Given the description of an element on the screen output the (x, y) to click on. 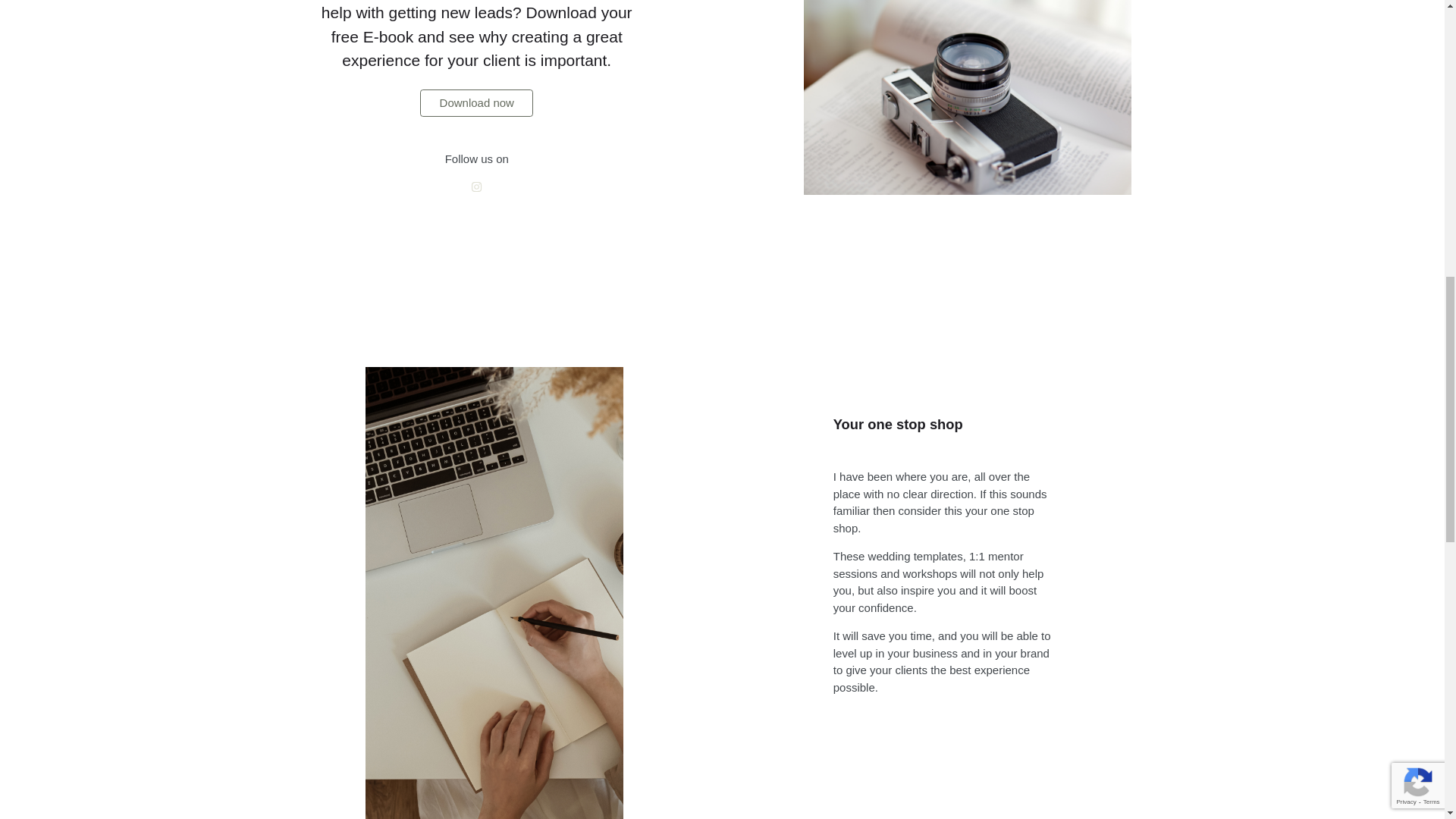
Download now (476, 103)
